Given the description of an element on the screen output the (x, y) to click on. 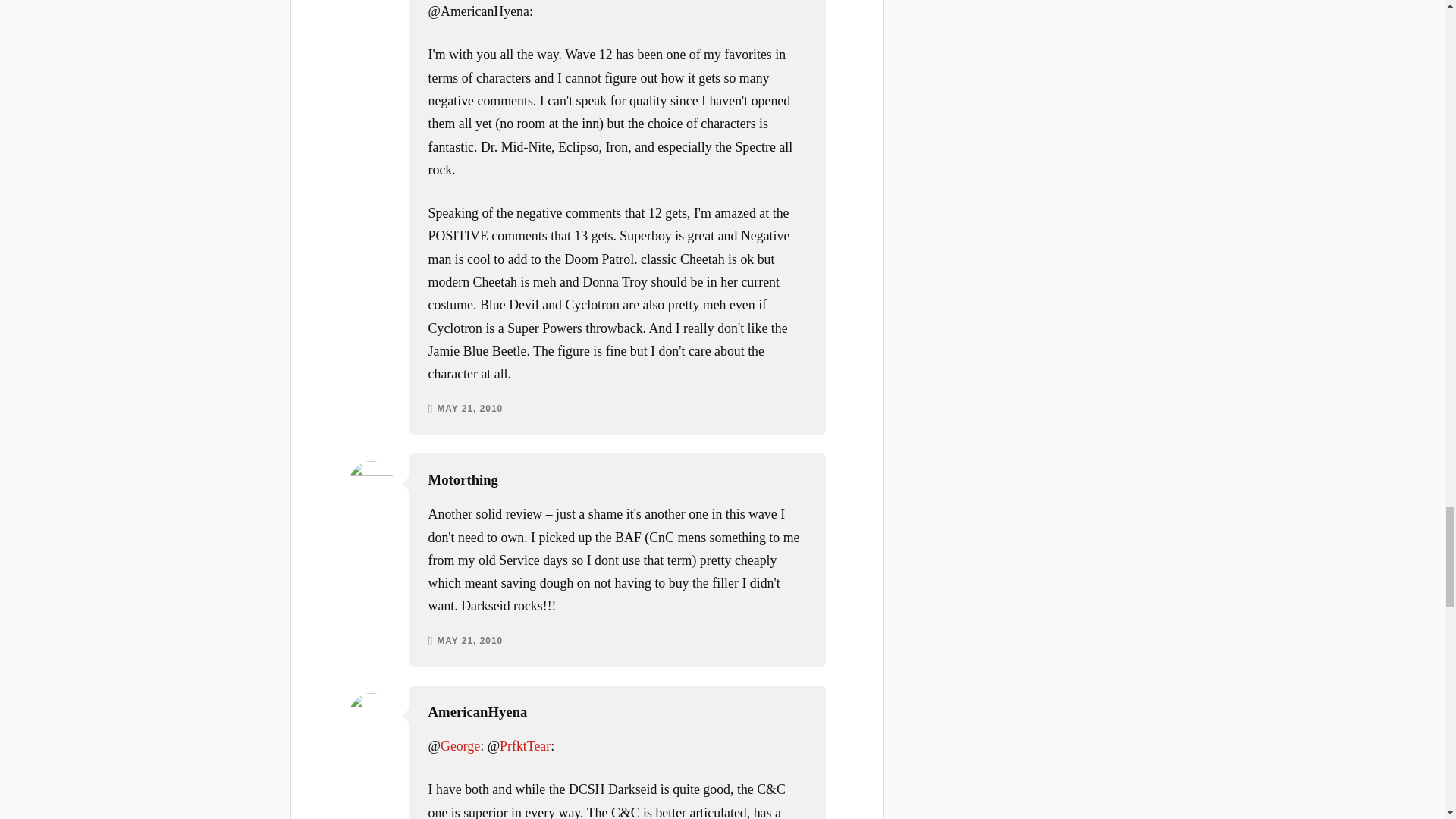
PrfktTear (524, 745)
George (460, 745)
MAY 21, 2010 (469, 409)
MAY 21, 2010 (469, 641)
